Given the description of an element on the screen output the (x, y) to click on. 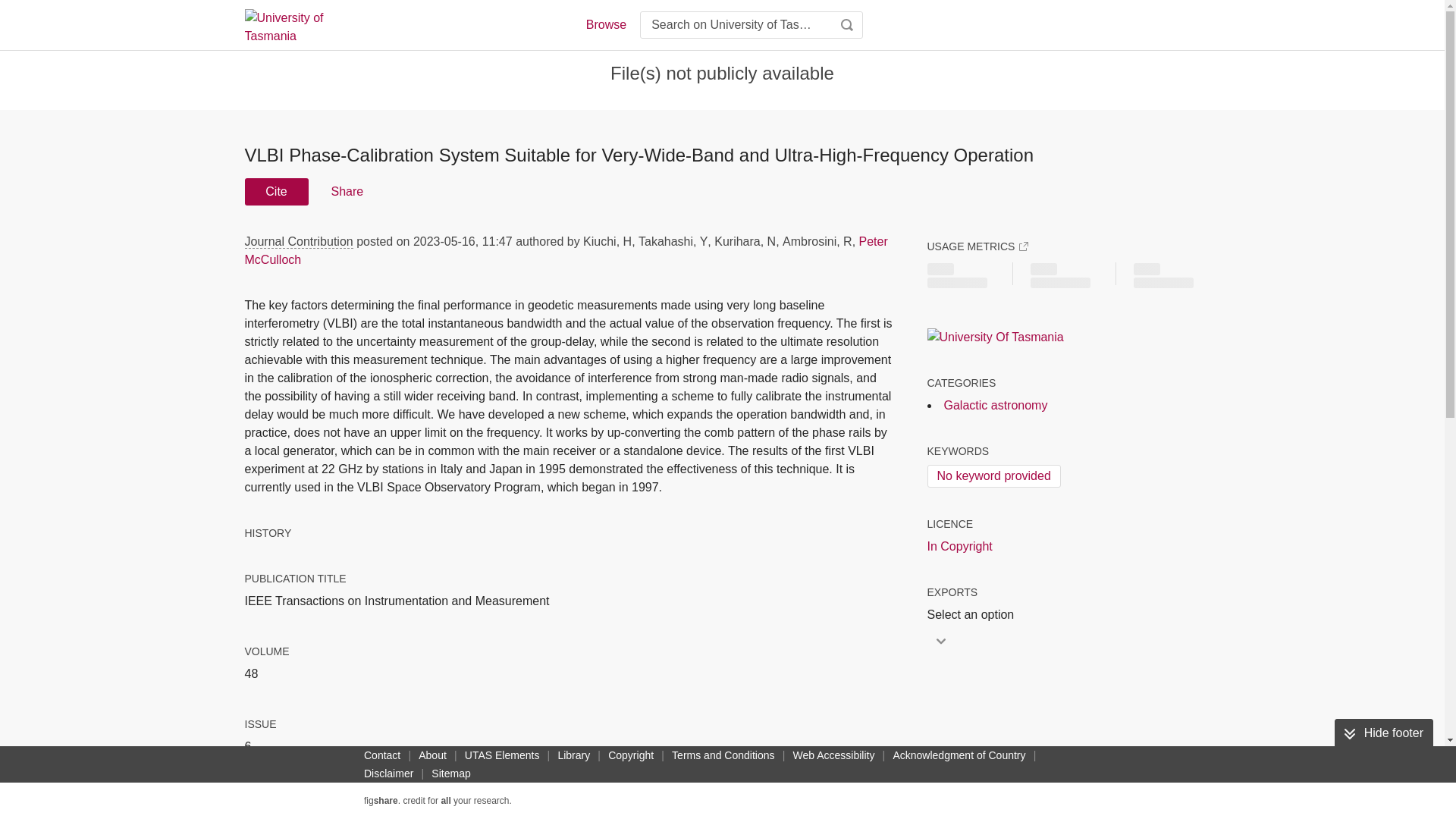
UTAS Elements (502, 755)
Browse (605, 24)
Peter McCulloch (565, 250)
Share (346, 191)
USAGE METRICS (976, 246)
In Copyright (958, 546)
Cite (275, 191)
Hide footer (1383, 733)
Galactic astronomy (994, 404)
Copyright (631, 755)
